Given the description of an element on the screen output the (x, y) to click on. 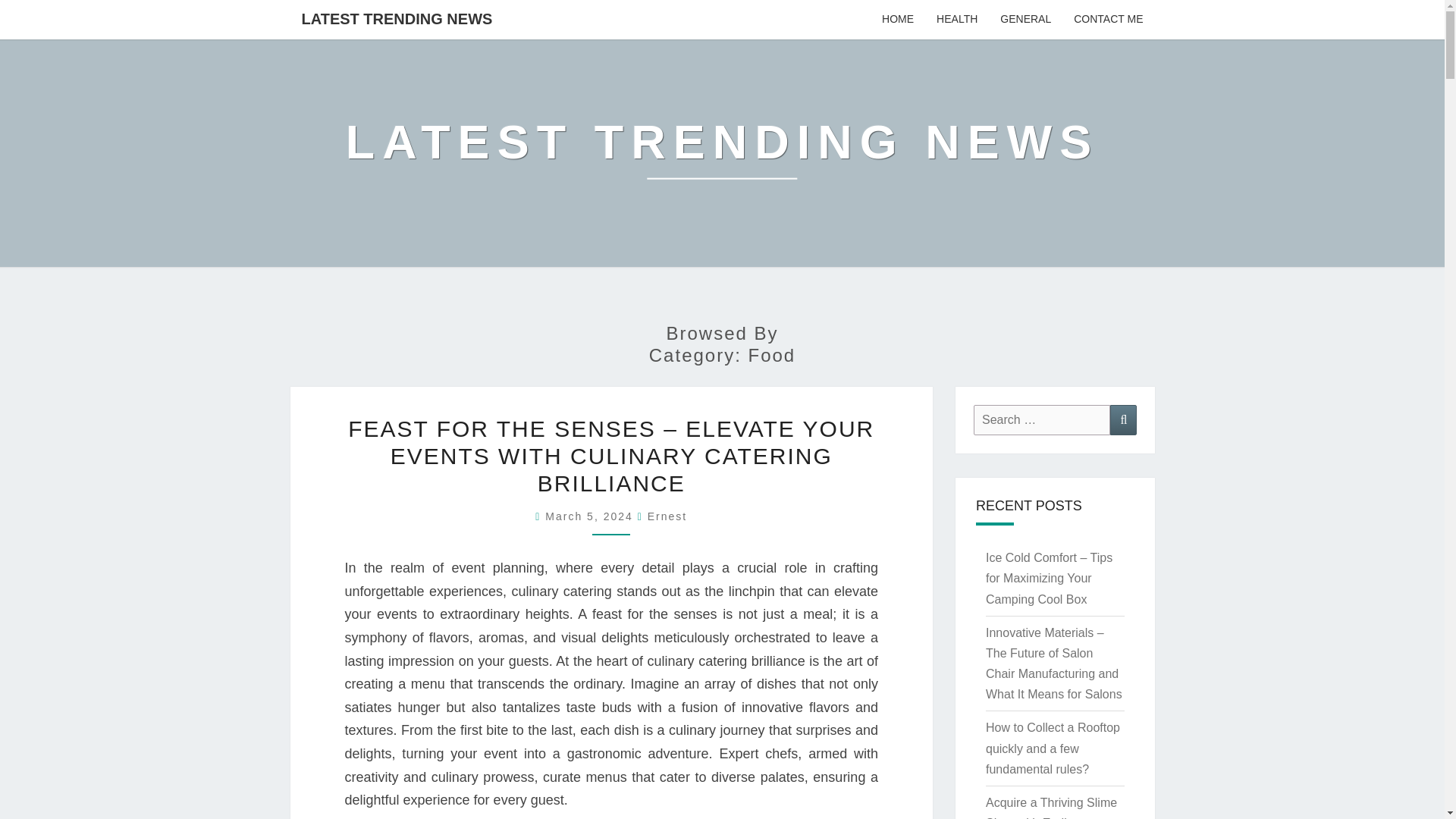
Search (1123, 419)
LATEST TRENDING NEWS (722, 152)
10:04 am (590, 516)
LATEST TRENDING NEWS (396, 18)
Search for: (1041, 419)
CONTACT ME (1108, 19)
March 5, 2024 (590, 516)
Latest Trending News (722, 152)
HOME (897, 19)
Ernest (667, 516)
